Given the description of an element on the screen output the (x, y) to click on. 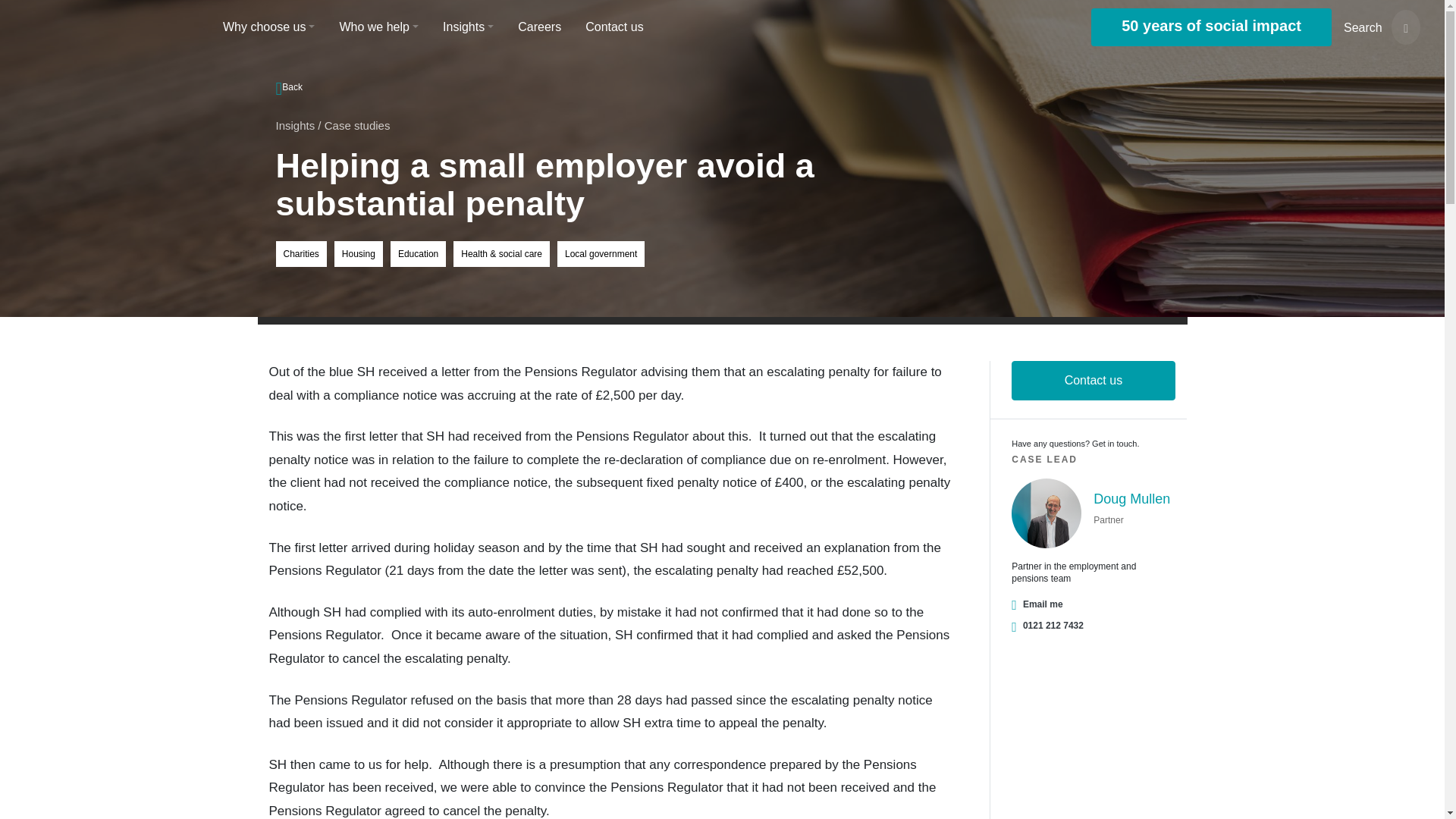
Who we help (378, 27)
Why choose us (268, 27)
